Given the description of an element on the screen output the (x, y) to click on. 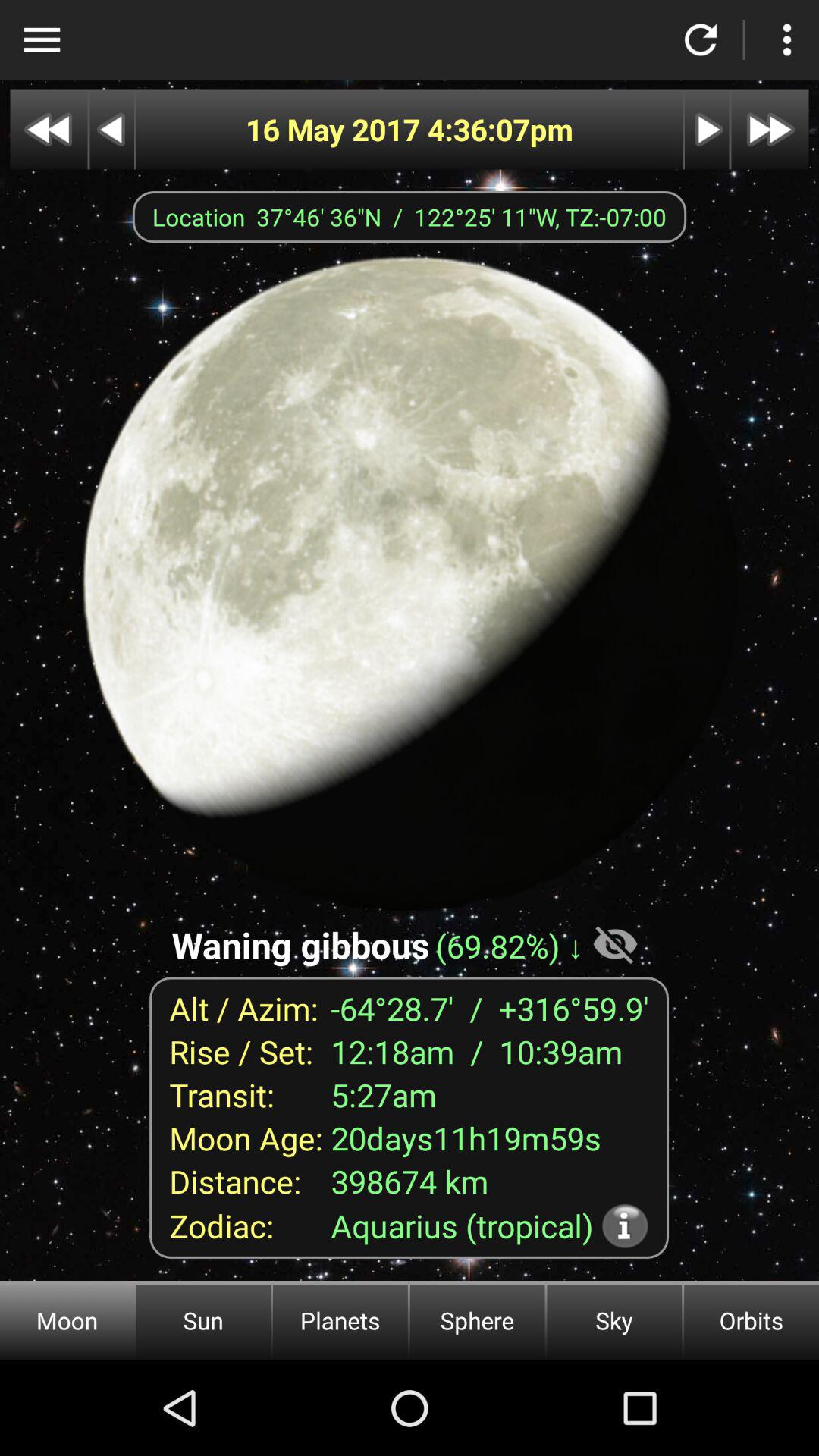
more information (624, 1225)
